Given the description of an element on the screen output the (x, y) to click on. 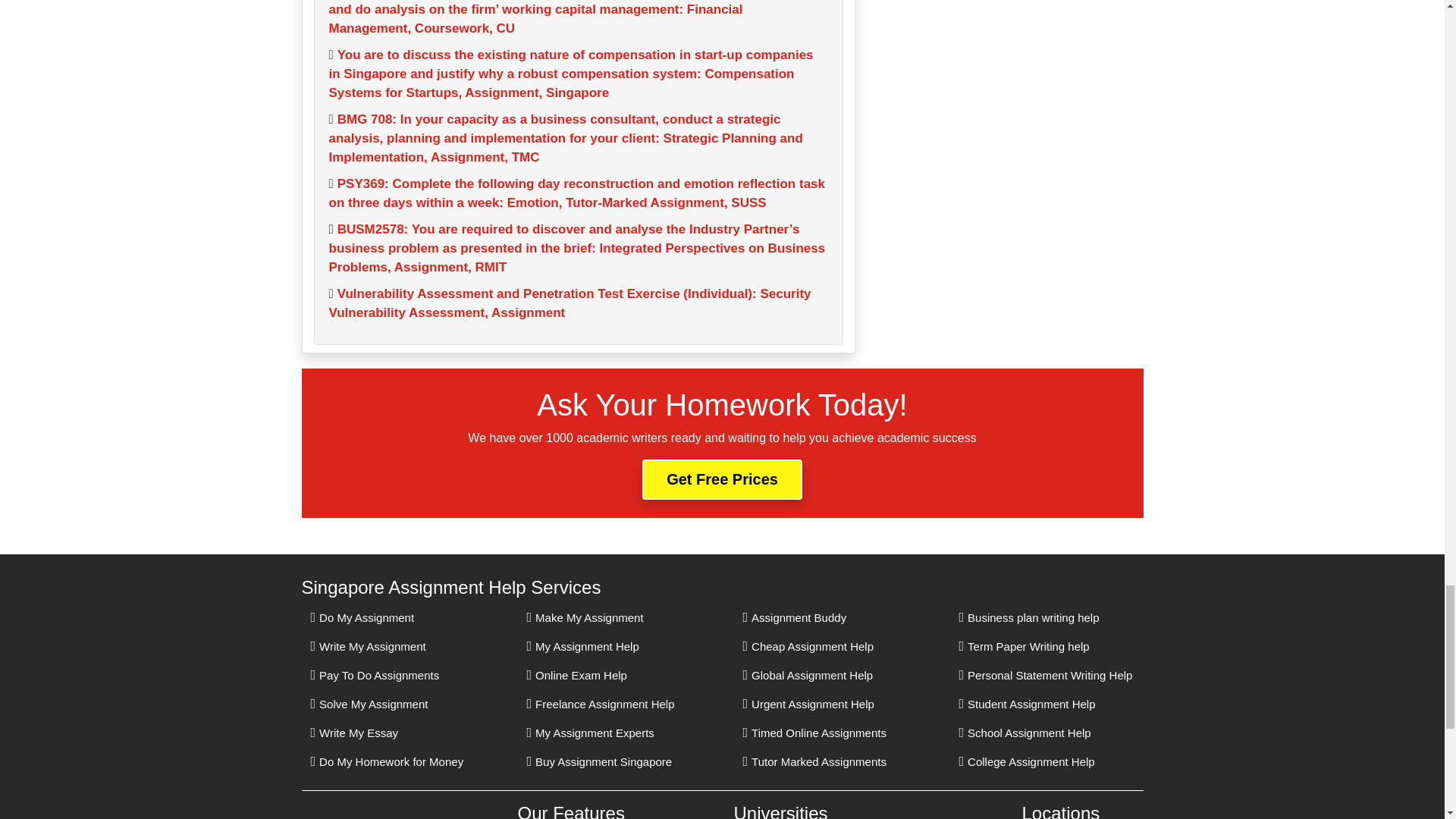
Solve My Assignment (369, 703)
Do My Assignment (362, 617)
Pay To Do Assignments (375, 675)
Write My Assignment (368, 645)
Write My Essay (354, 732)
